Given the description of an element on the screen output the (x, y) to click on. 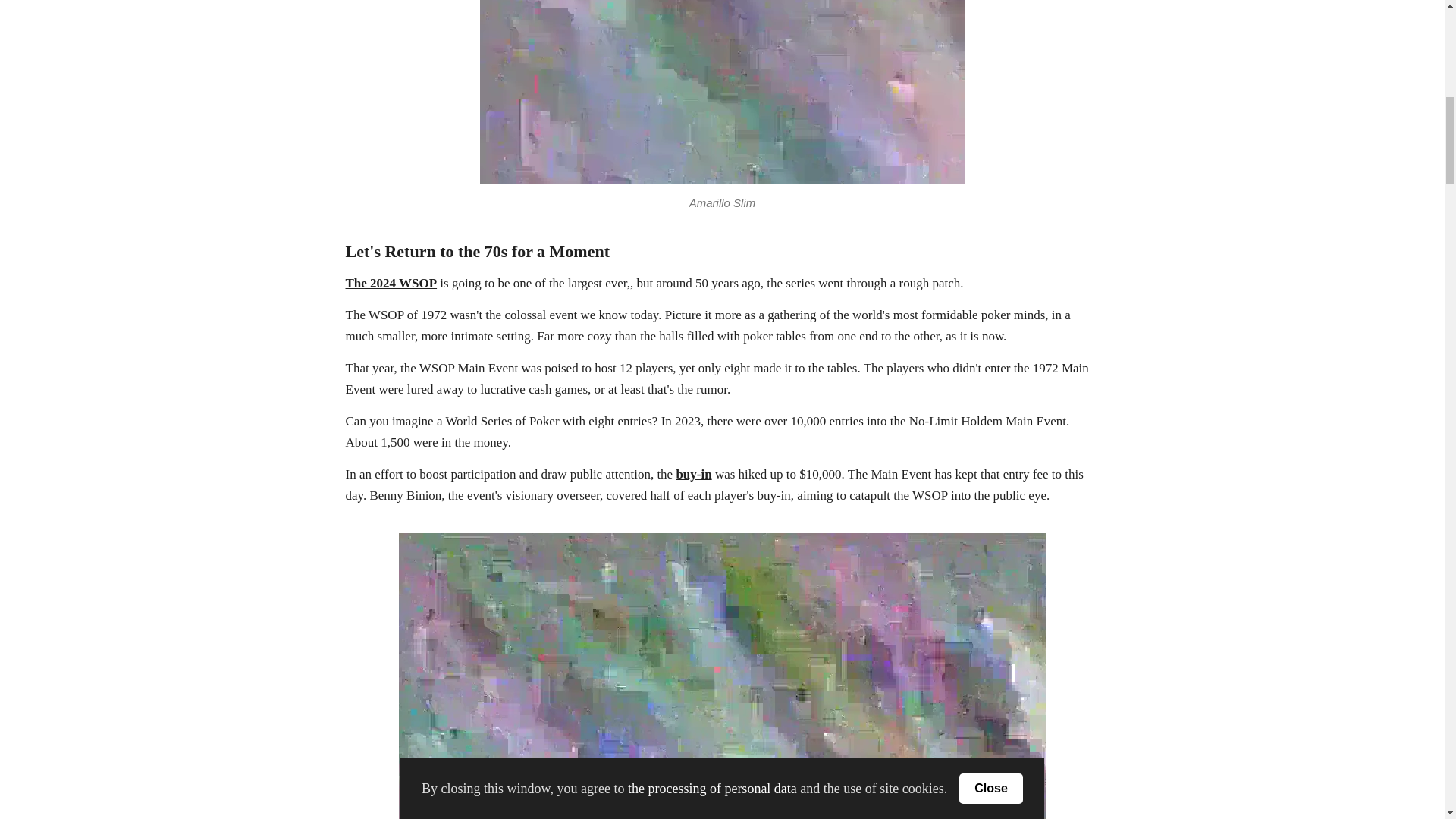
The 2024 WSOP (392, 283)
buy-in (693, 473)
